Given the description of an element on the screen output the (x, y) to click on. 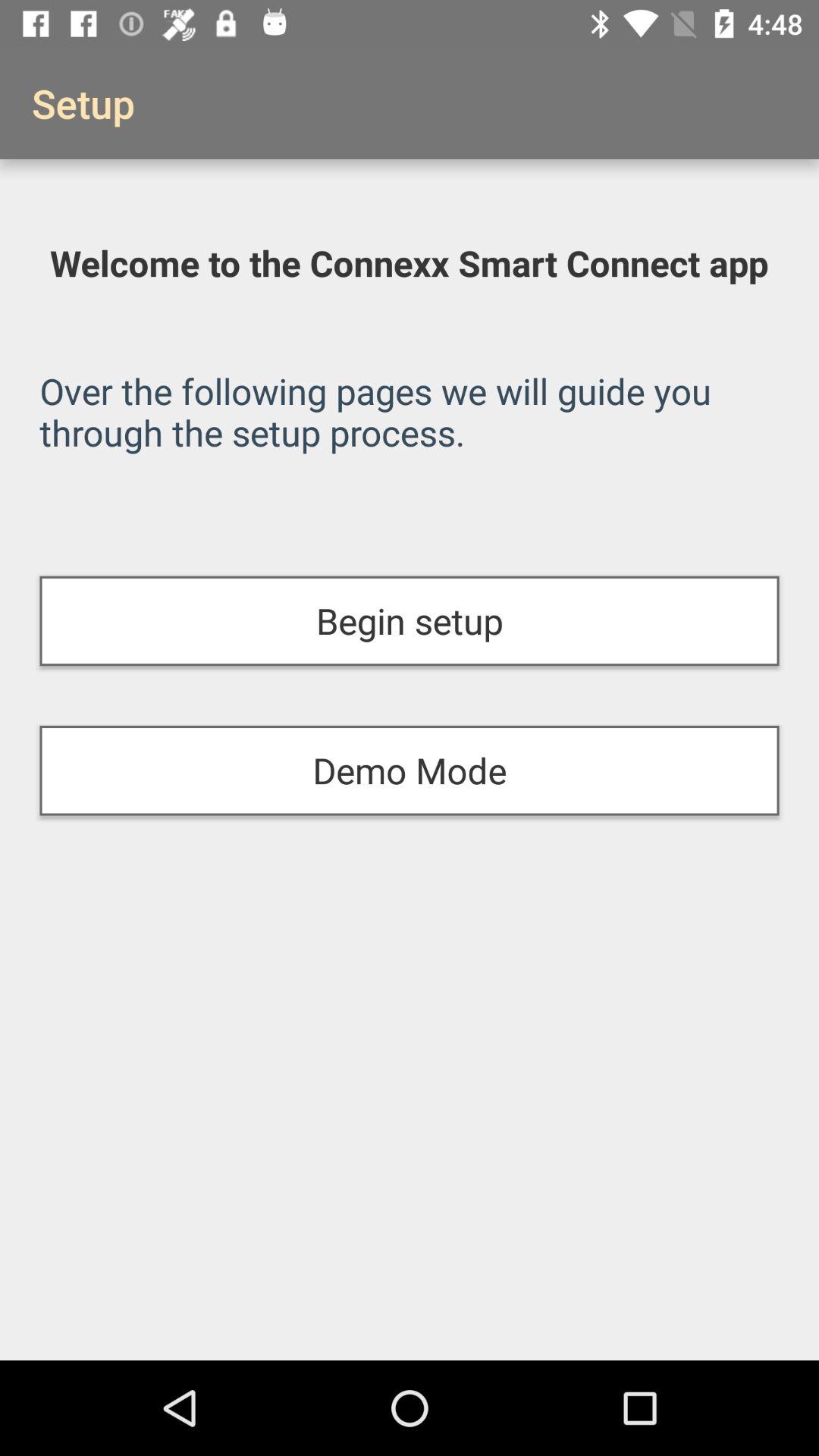
open icon below over the following (409, 621)
